Given the description of an element on the screen output the (x, y) to click on. 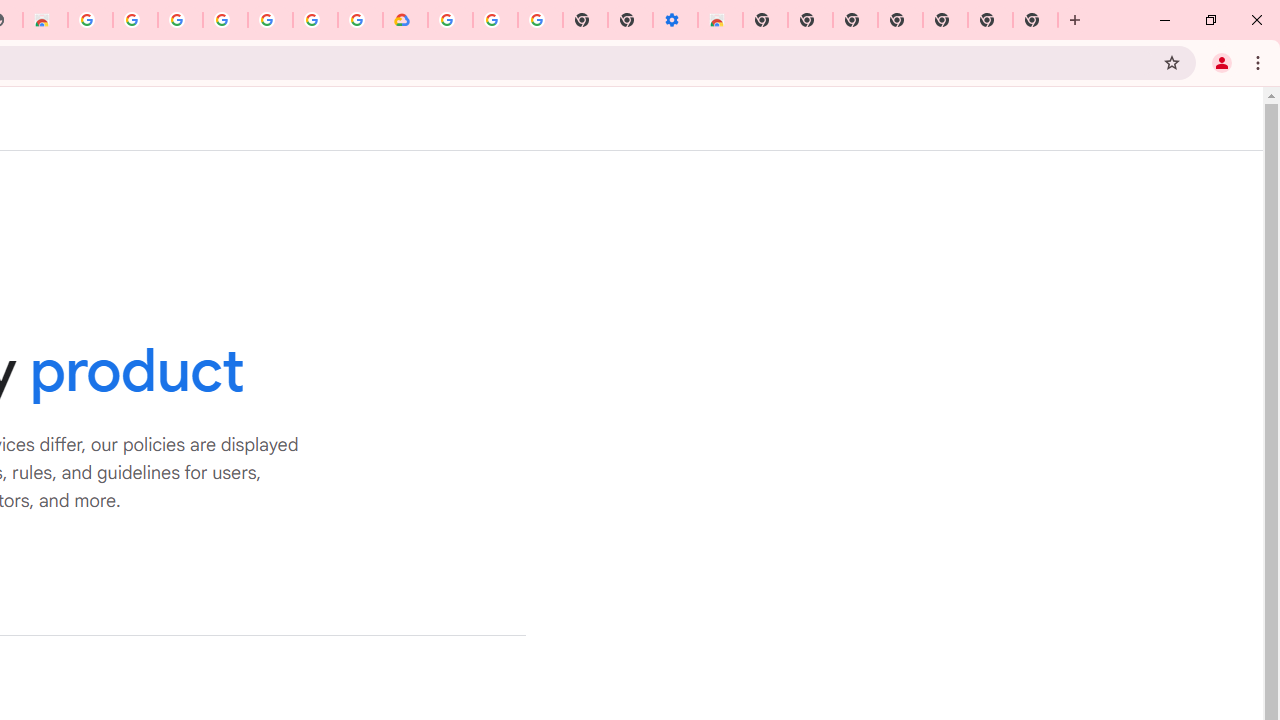
Settings - Accessibility (674, 20)
Sign in - Google Accounts (315, 20)
Google Account Help (495, 20)
New Tab (1035, 20)
Turn cookies on or off - Computer - Google Account Help (540, 20)
New Tab (765, 20)
Ad Settings (134, 20)
